Given the description of an element on the screen output the (x, y) to click on. 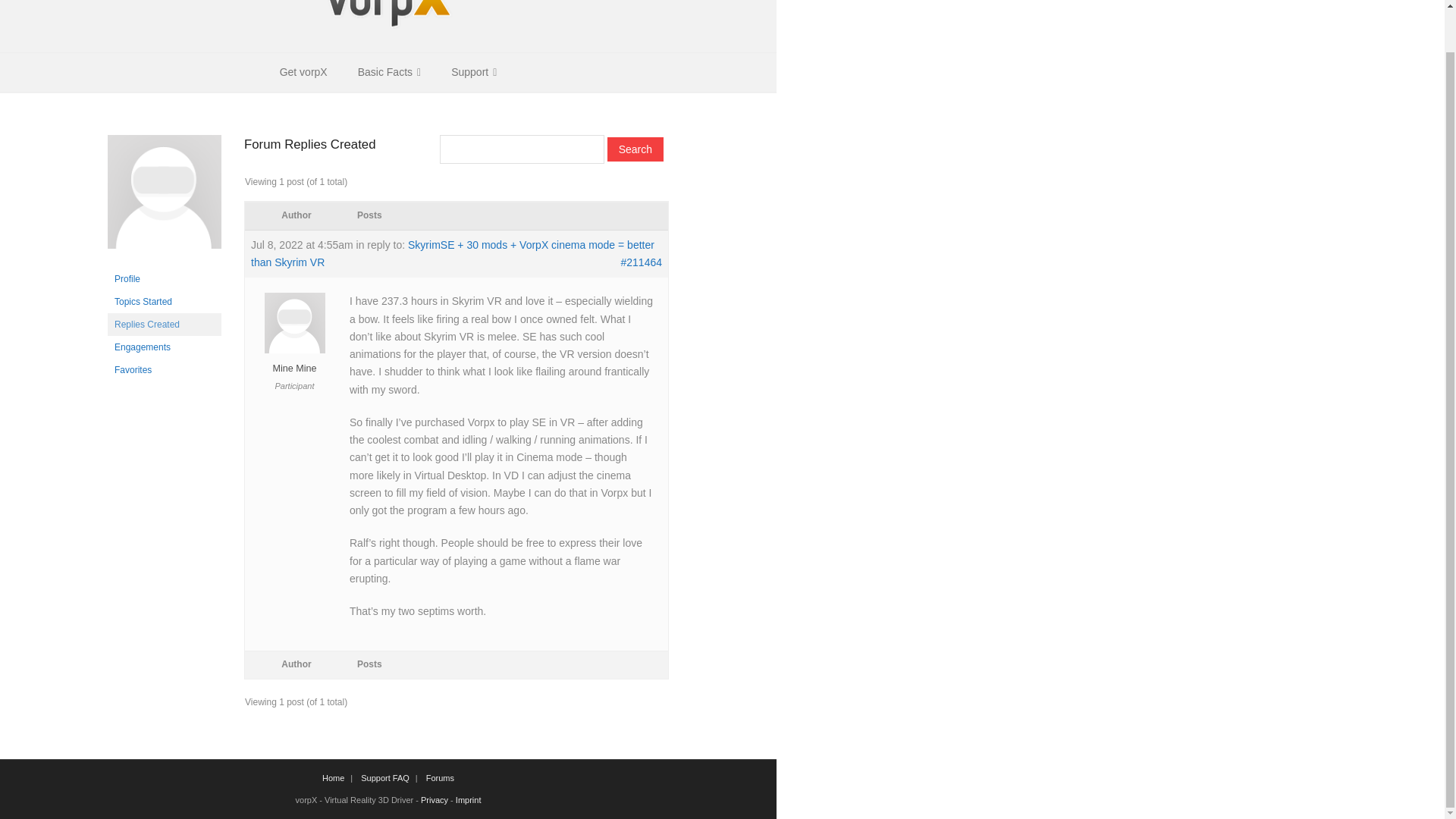
Topics Started (164, 301)
Support FAQ (384, 777)
Favorites (164, 369)
Search (635, 149)
Get vorpX (303, 72)
Basic Facts (388, 72)
Mine Mine (293, 360)
Home (332, 777)
Imprint (468, 799)
Forums (440, 777)
